Given the description of an element on the screen output the (x, y) to click on. 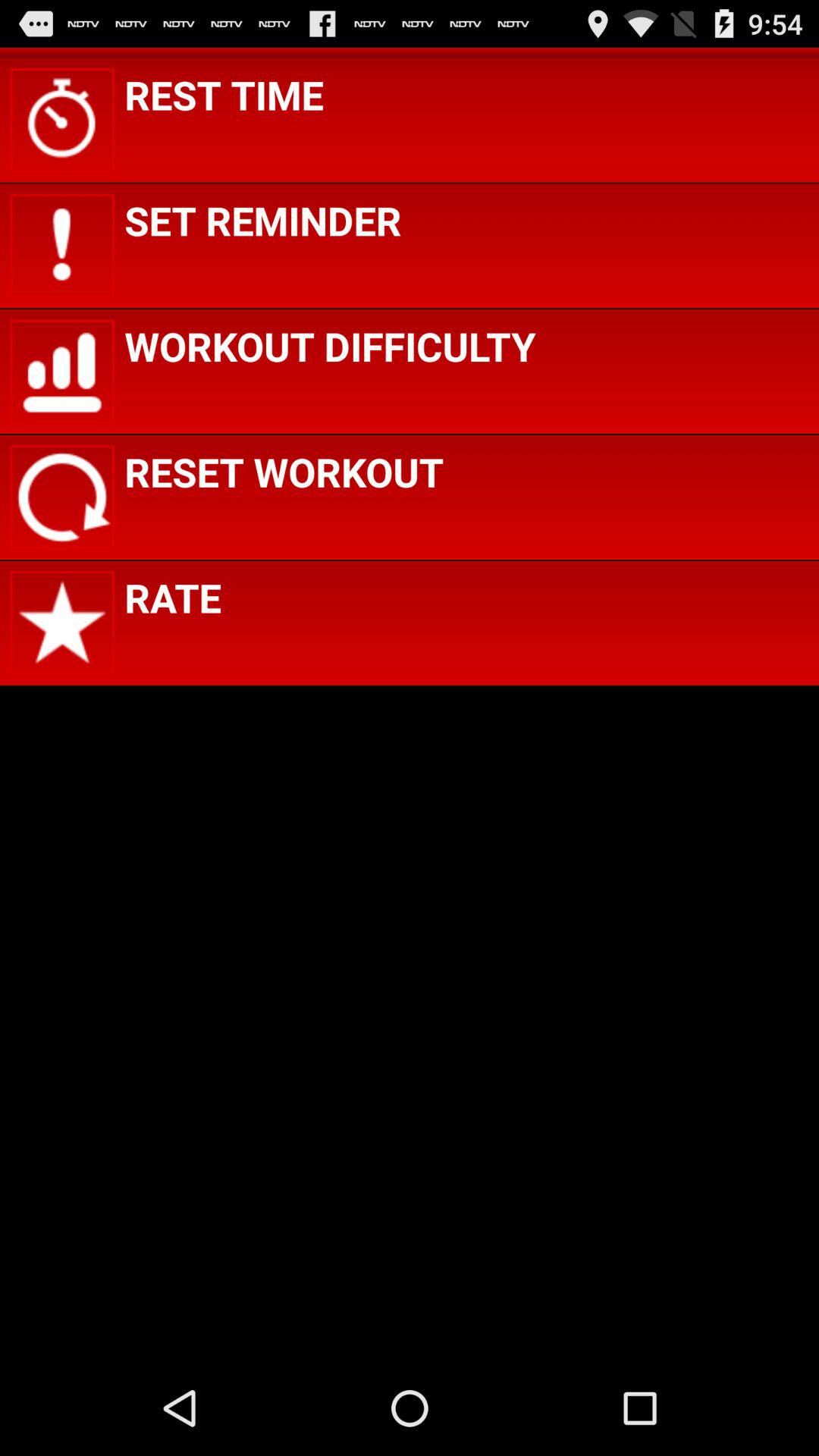
jump to set reminder icon (262, 219)
